Given the description of an element on the screen output the (x, y) to click on. 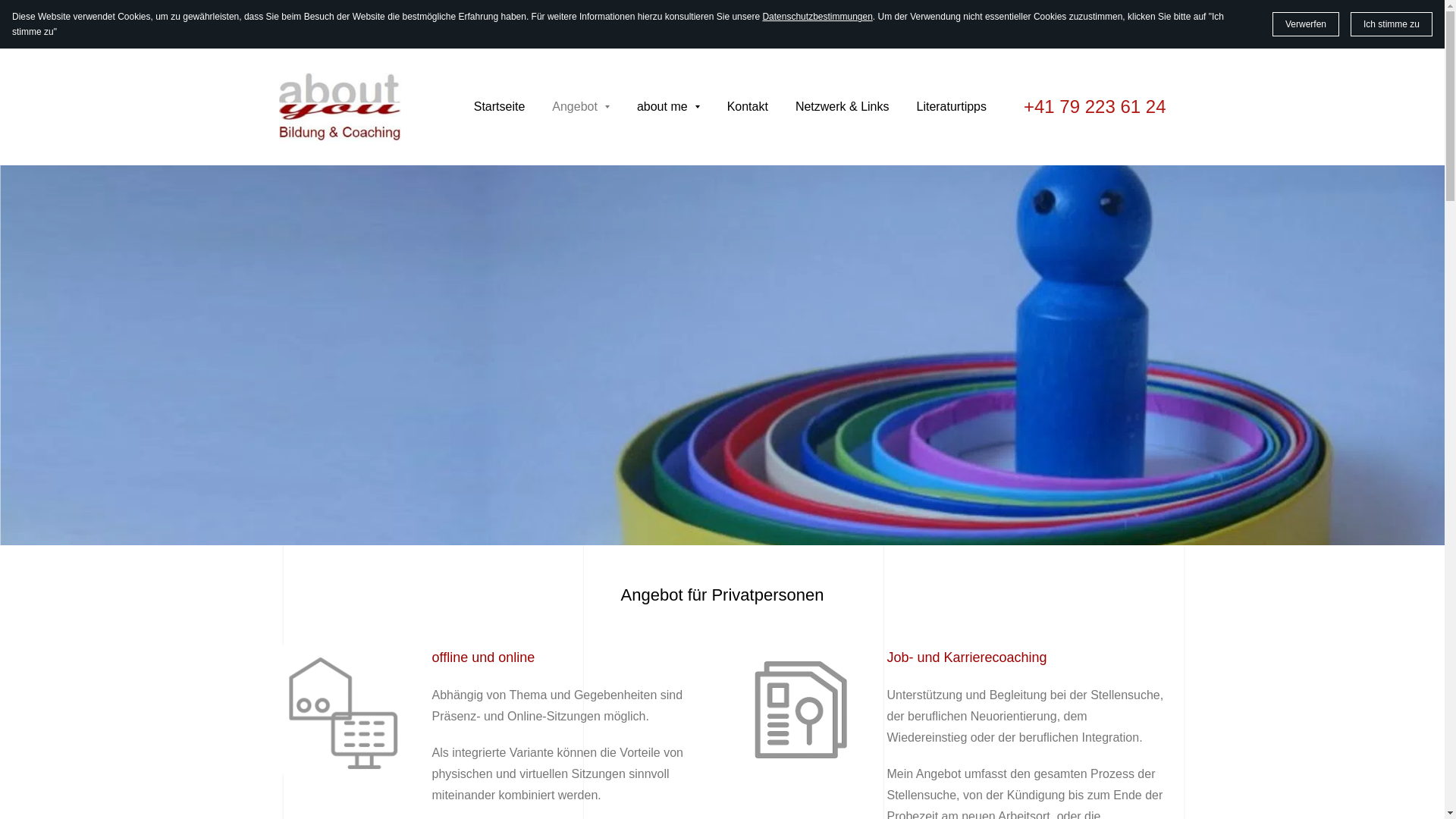
about me Element type: text (668, 106)
Datenschutzbestimmungen Element type: text (817, 16)
Startseite Element type: text (499, 106)
Netzwerk & Links Element type: text (842, 106)
Kontakt Element type: text (747, 106)
Literaturtipps Element type: text (951, 106)
Angebot Element type: text (580, 106)
